Given the description of an element on the screen output the (x, y) to click on. 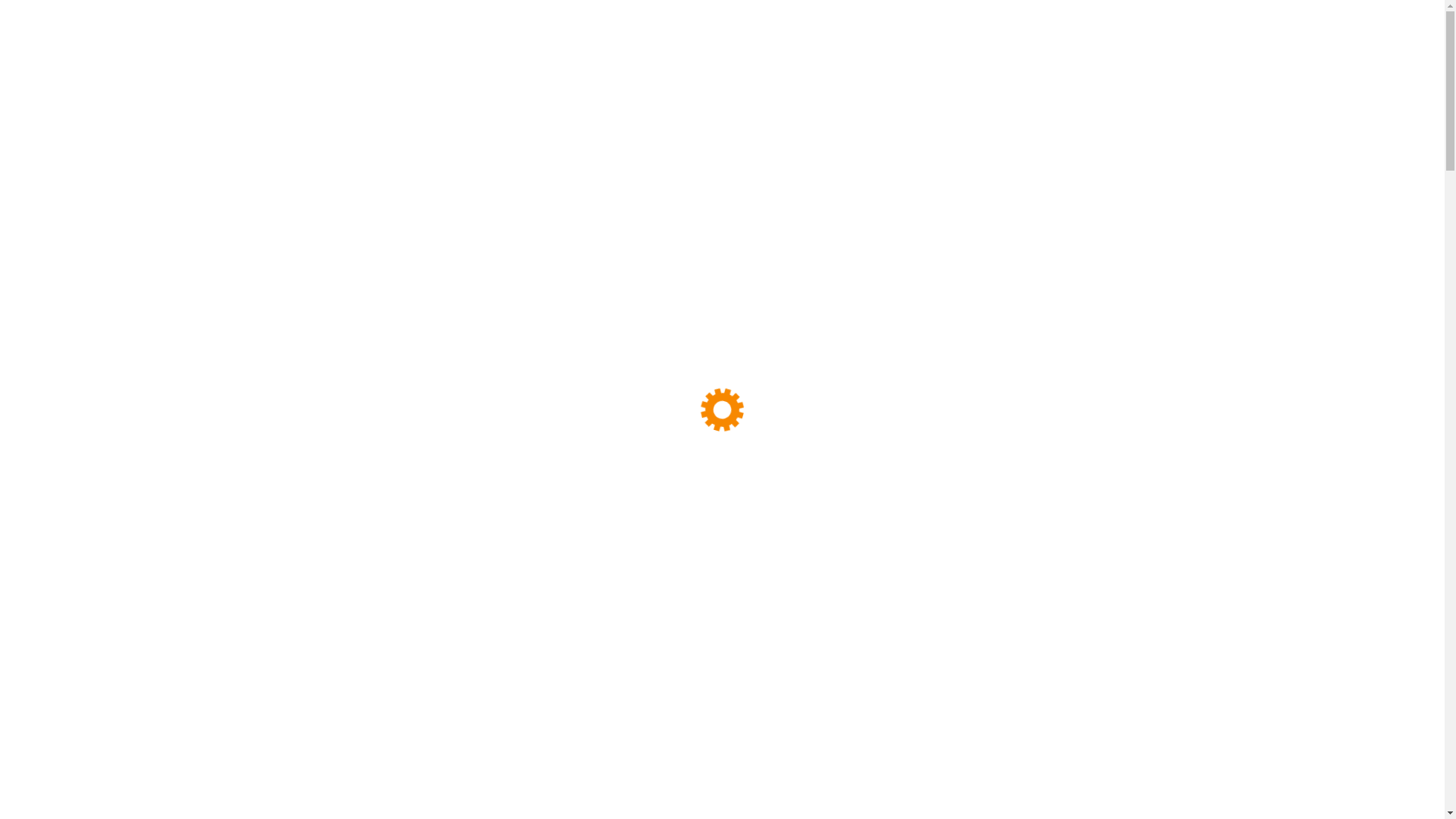
FAQ Element type: text (535, 111)
Retail Outlets Element type: text (688, 111)
Products Element type: text (368, 111)
English Element type: text (908, 111)
English Element type: hover (880, 111)
admin@turboheat.net.au Element type: text (780, 53)
(03) 8088 0348 Element type: text (617, 53)
Home Element type: text (295, 111)
Gallery Element type: text (599, 111)
Get In Touch Element type: text (1101, 42)
Turboheat Element type: hover (368, 42)
How It works Element type: text (461, 111)
